Given the description of an element on the screen output the (x, y) to click on. 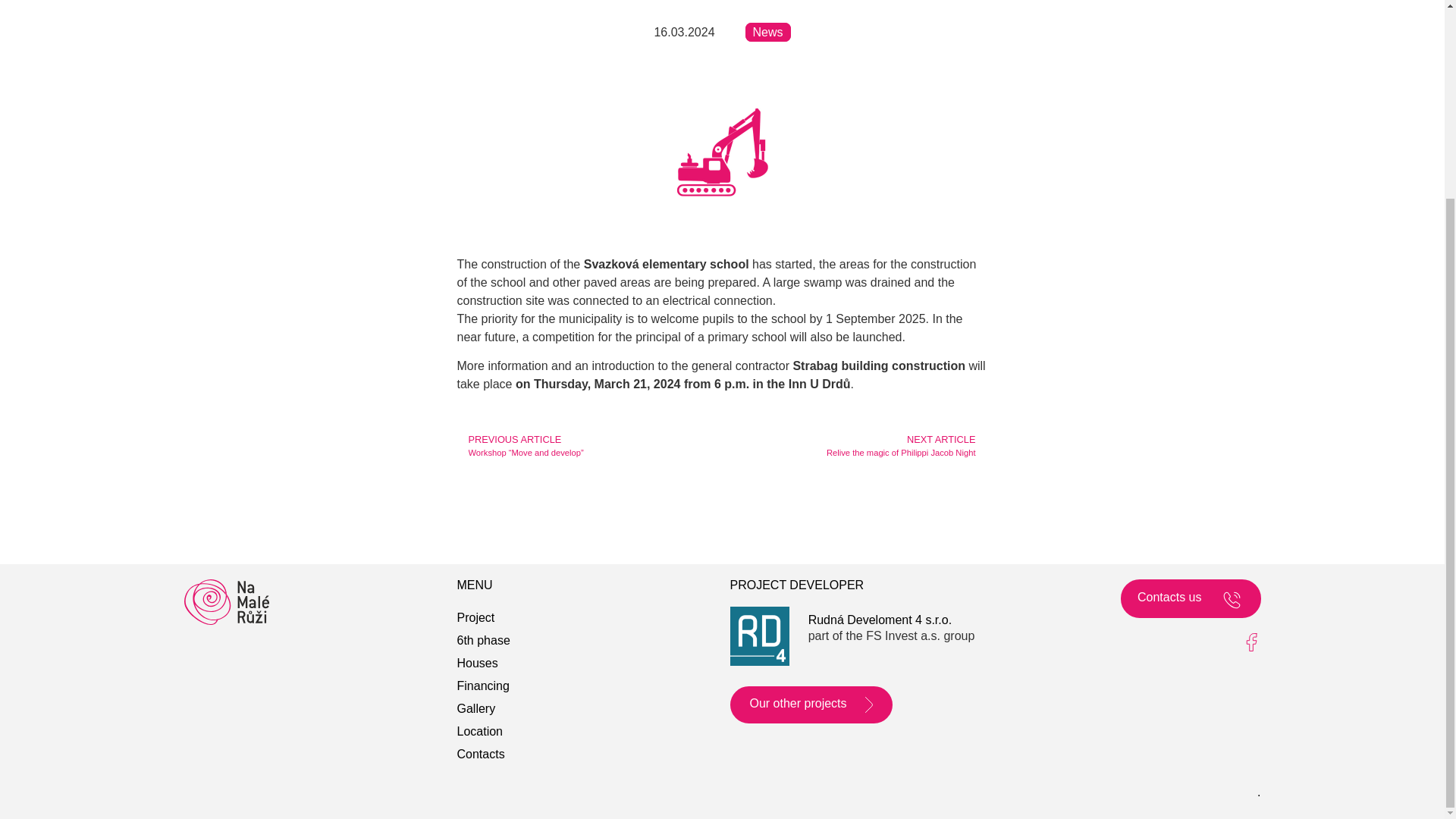
Contacts (483, 753)
News (767, 31)
Houses (483, 662)
Location (483, 731)
6th phase (854, 445)
Financing (483, 640)
Gallery (483, 685)
Project (483, 708)
